Given the description of an element on the screen output the (x, y) to click on. 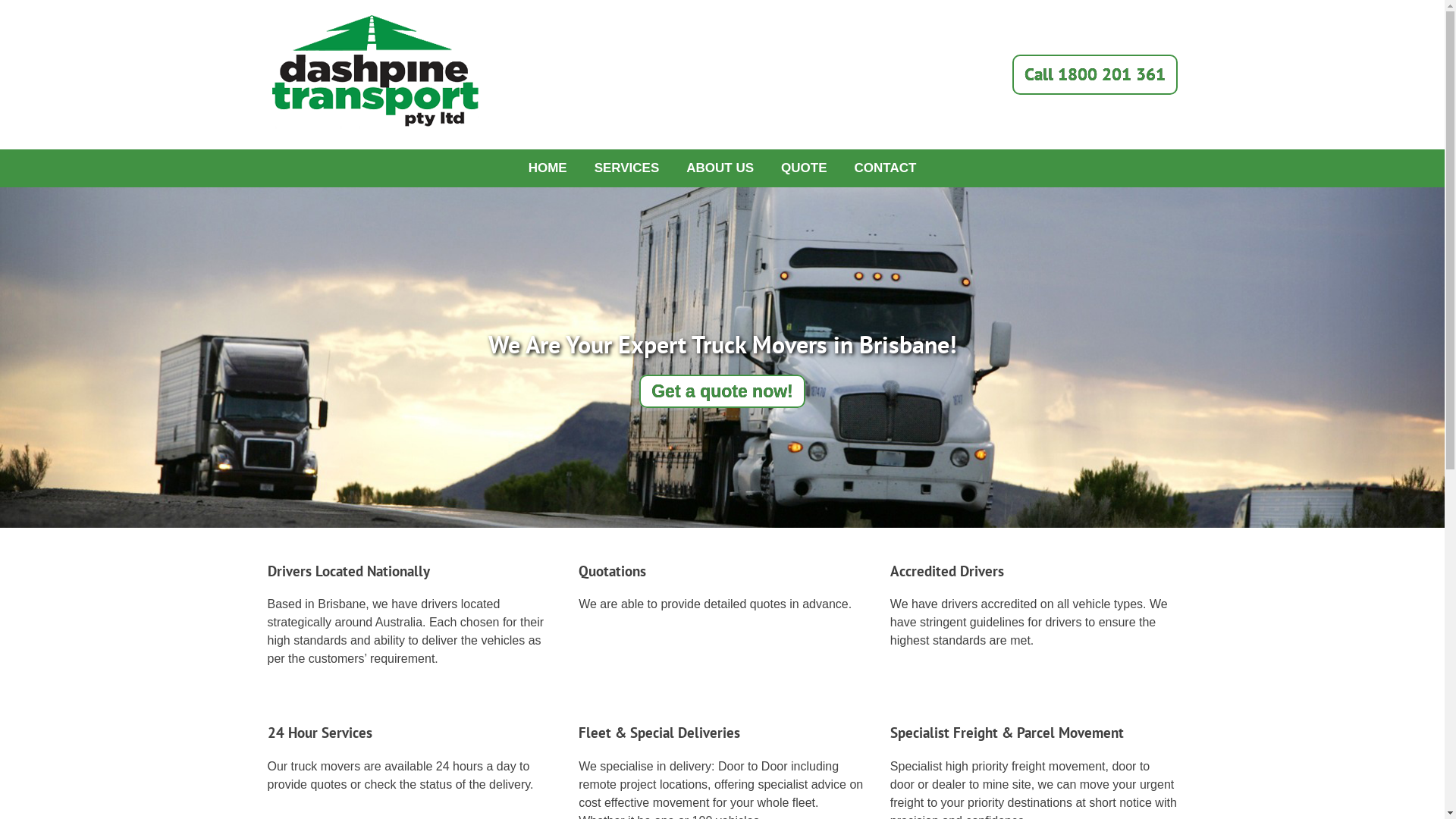
Call 1800 201 361 Element type: text (1093, 74)
CONTACT Element type: text (885, 168)
ABOUT US Element type: text (719, 168)
QUOTE Element type: text (803, 168)
Get a quote now! Element type: text (722, 390)
HOME Element type: text (547, 168)
SERVICES Element type: text (626, 168)
